Given the description of an element on the screen output the (x, y) to click on. 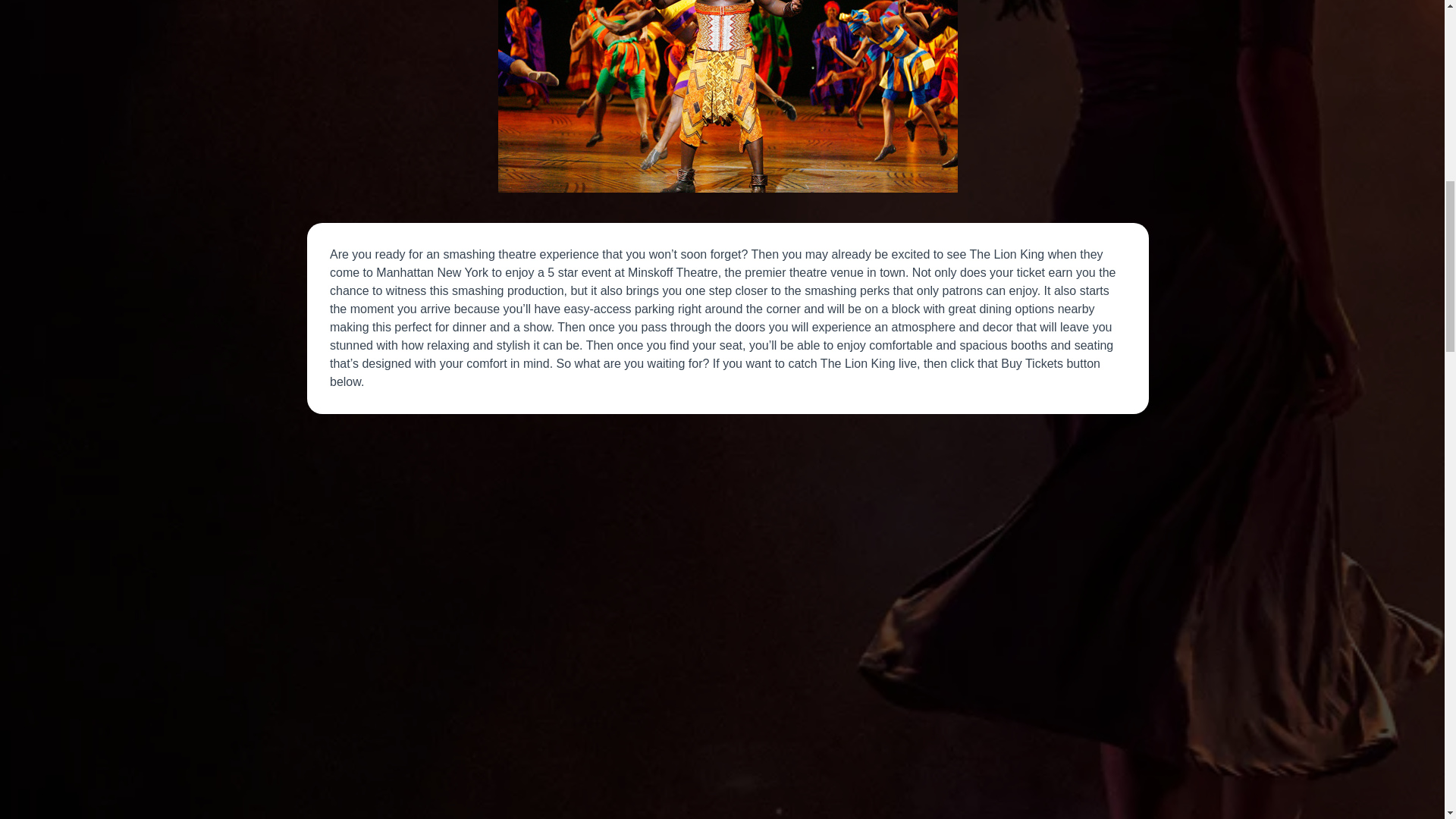
The Lion King at Minskoff Theatre (727, 96)
